Given the description of an element on the screen output the (x, y) to click on. 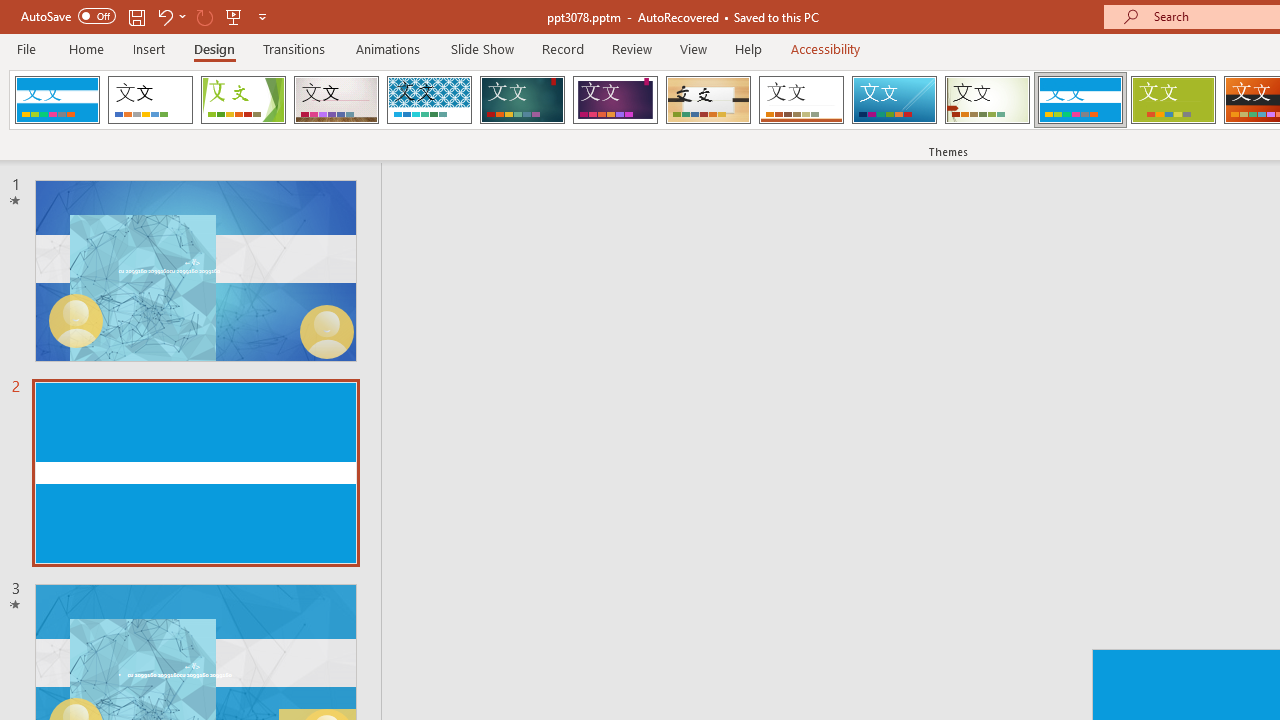
Wisp (987, 100)
Facet (243, 100)
Office Theme (150, 100)
Slice (893, 100)
Ion (522, 100)
Organic (708, 100)
Retrospect (801, 100)
